Given the description of an element on the screen output the (x, y) to click on. 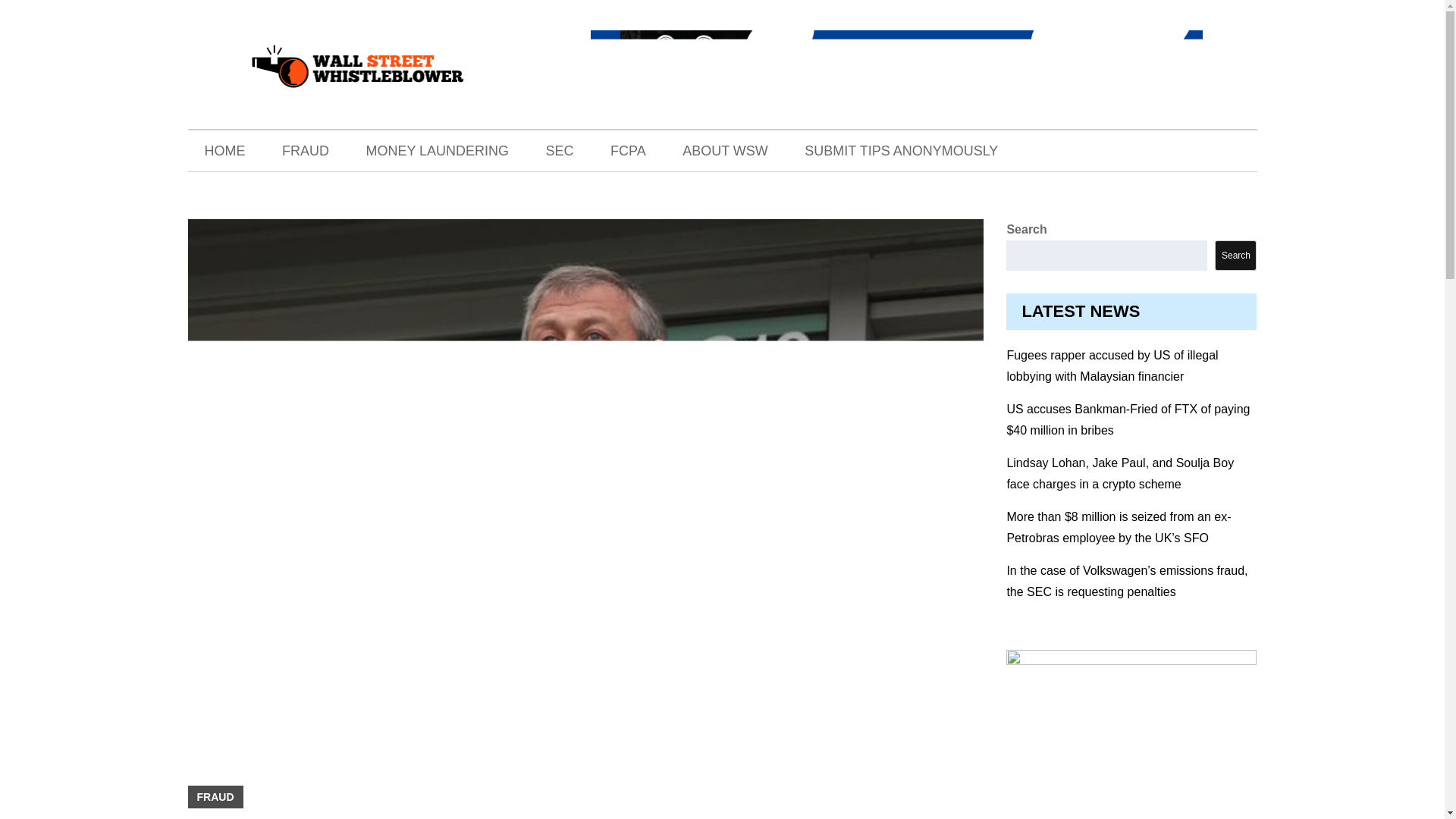
SUBMIT TIPS ANONYMOUSLY (900, 150)
FRAUD (305, 150)
FCPA (628, 150)
MONEY LAUNDERING (437, 150)
Search (1235, 255)
HOME (224, 150)
ABOUT WSW (724, 150)
SEC (560, 150)
SEARCH (1233, 150)
FRAUD (215, 796)
